Given the description of an element on the screen output the (x, y) to click on. 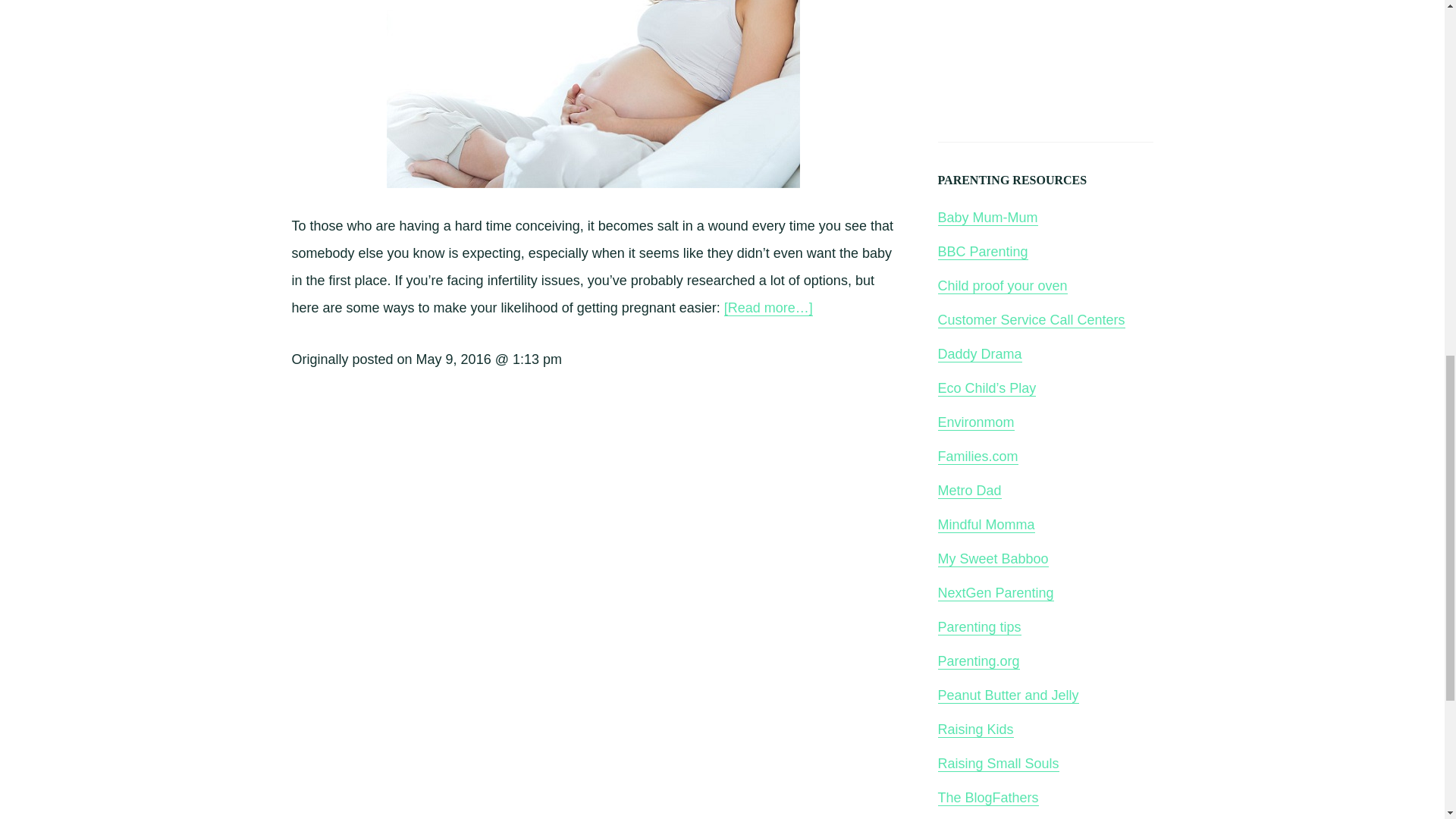
BBC Parenting (982, 252)
Peanut Butter and Jelly (1007, 695)
Baby Mum-Mum (986, 217)
My Sweet Babboo (992, 559)
Metro Dad (969, 490)
The BlogFathers (987, 797)
Raising Kids (975, 729)
Environmom (975, 422)
Daddy Drama (979, 354)
Great info on raising kids from the UK (975, 729)
